Given the description of an element on the screen output the (x, y) to click on. 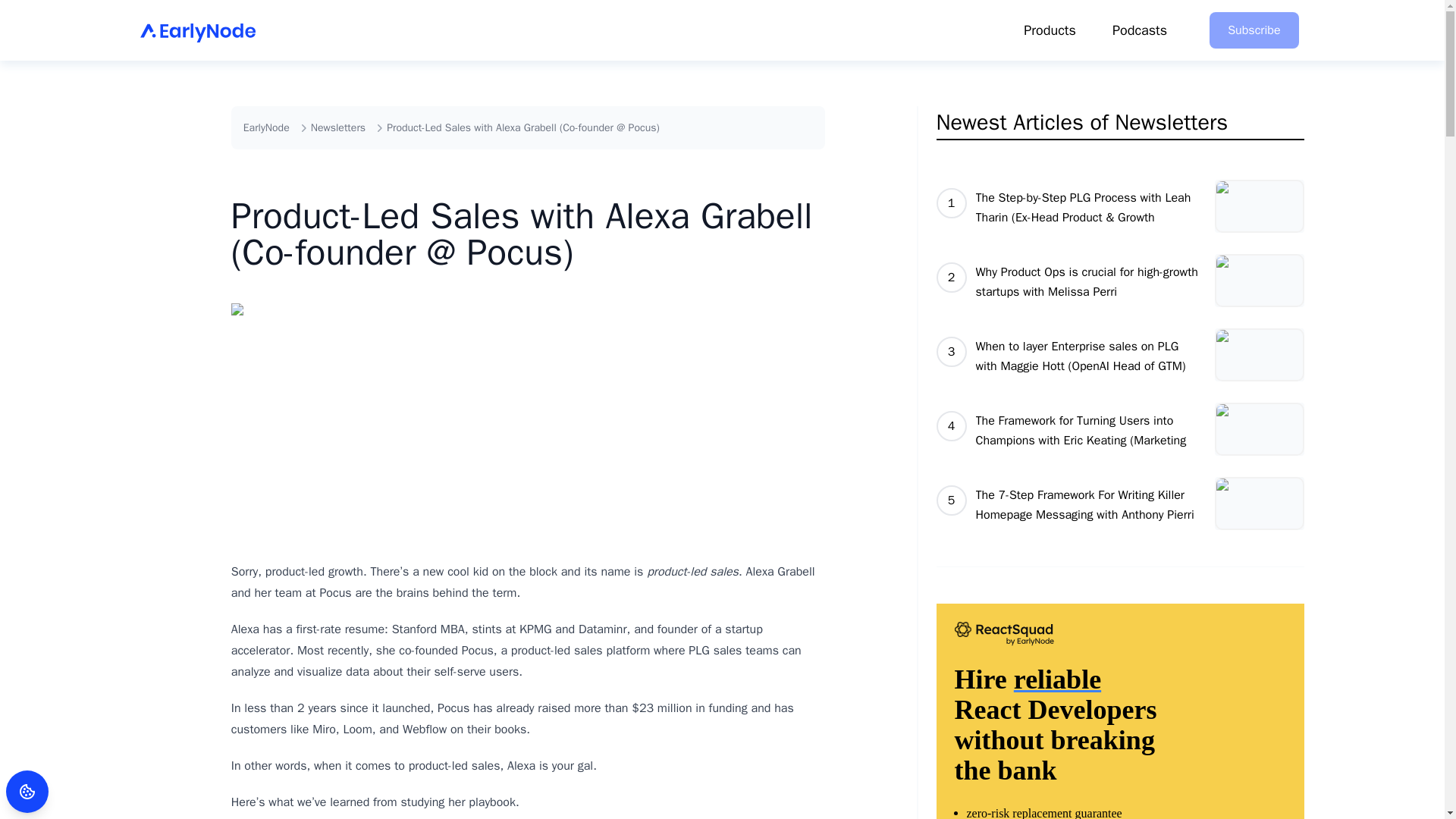
Subscribe (1253, 30)
Subscribe (1254, 30)
Podcasts (1139, 30)
Products (1049, 30)
EarlyNode (266, 127)
Newsletters (338, 127)
